Given the description of an element on the screen output the (x, y) to click on. 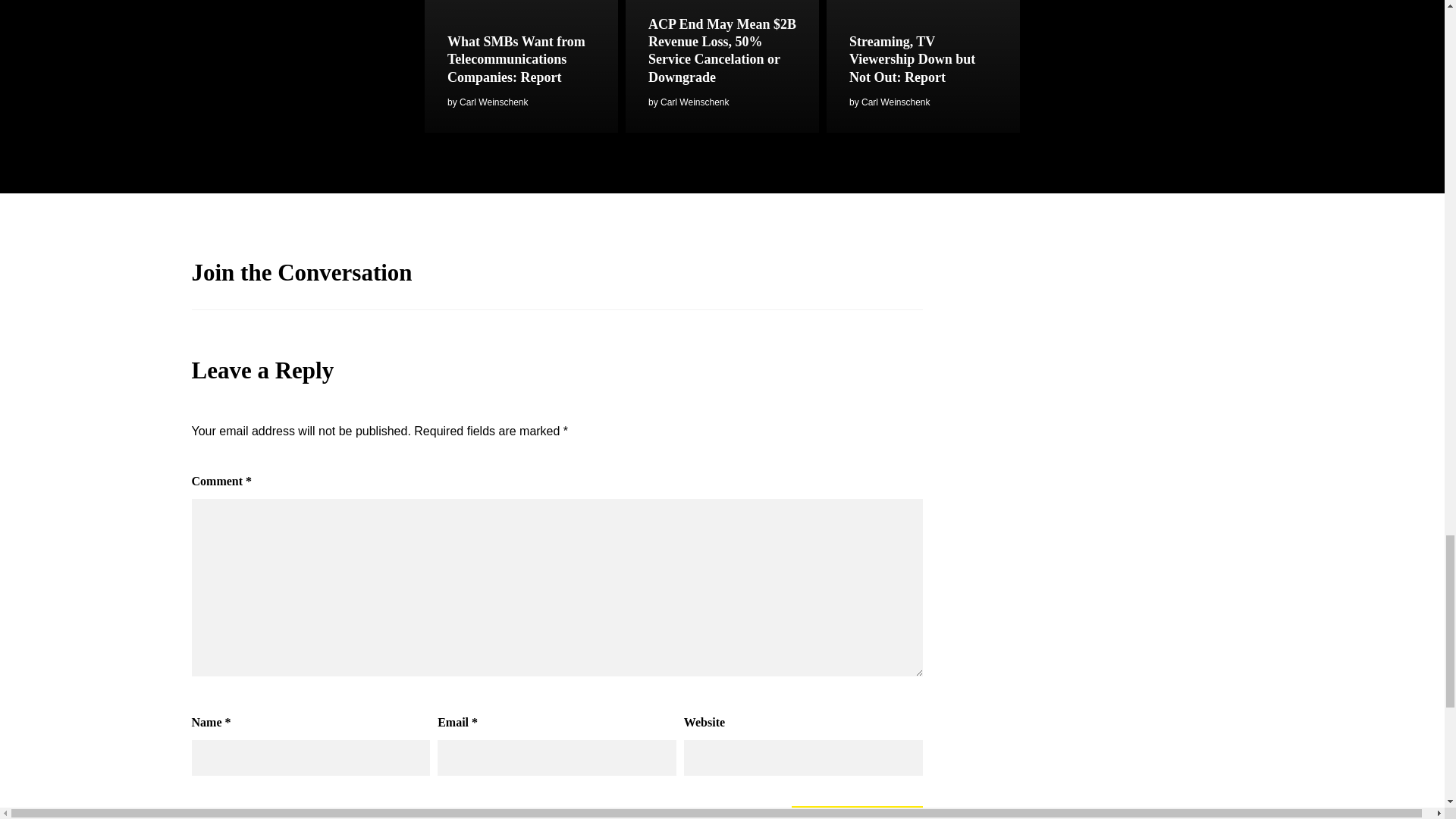
Post Comment (857, 812)
